Given the description of an element on the screen output the (x, y) to click on. 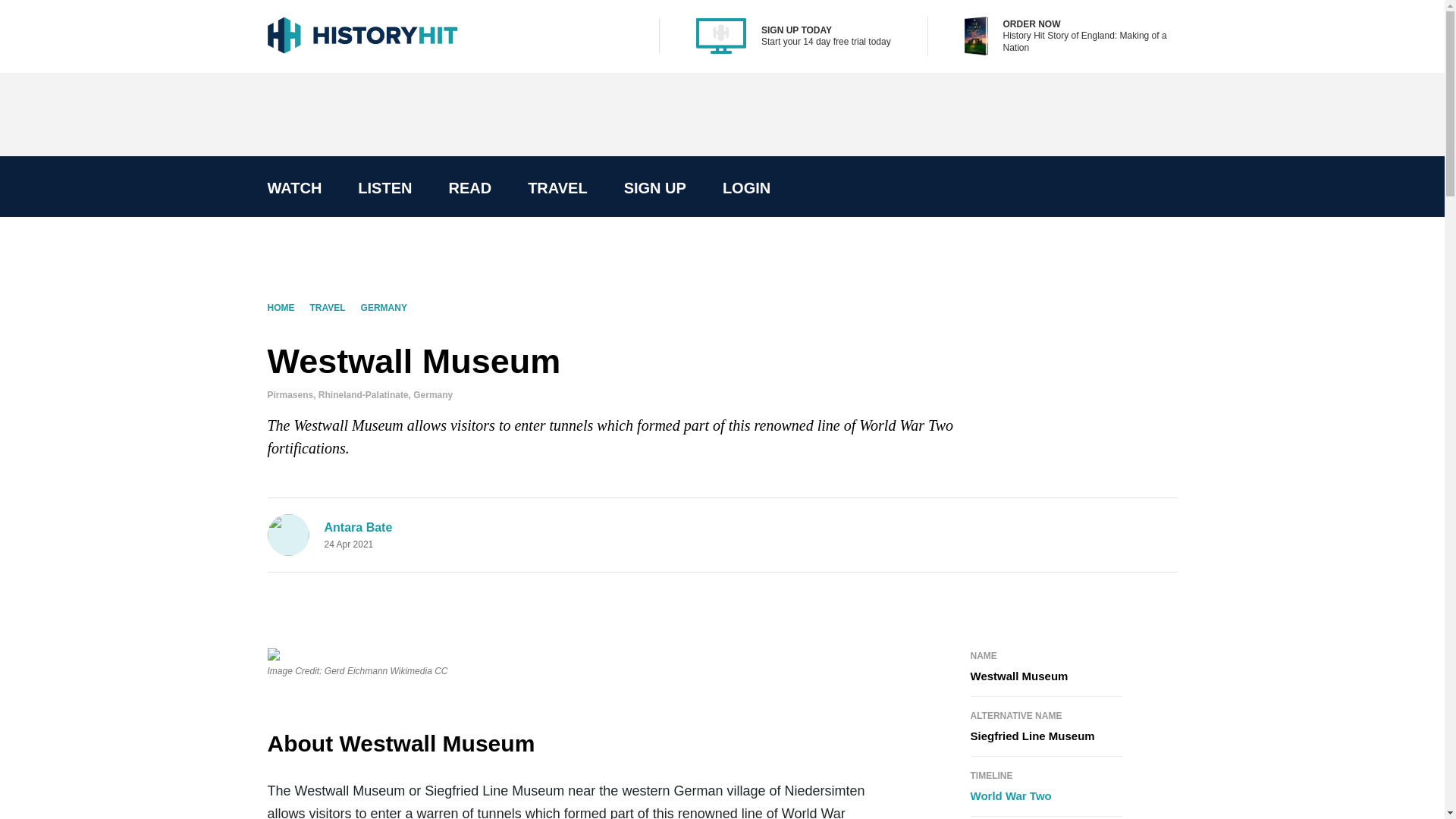
READ (469, 187)
LISTEN (384, 187)
ORDER NOW (1031, 23)
History Hit Story of England: Making of a Nation (1089, 41)
Start your 14 day free trial today (826, 41)
WATCH (293, 187)
SIGN UP TODAY (796, 30)
